Given the description of an element on the screen output the (x, y) to click on. 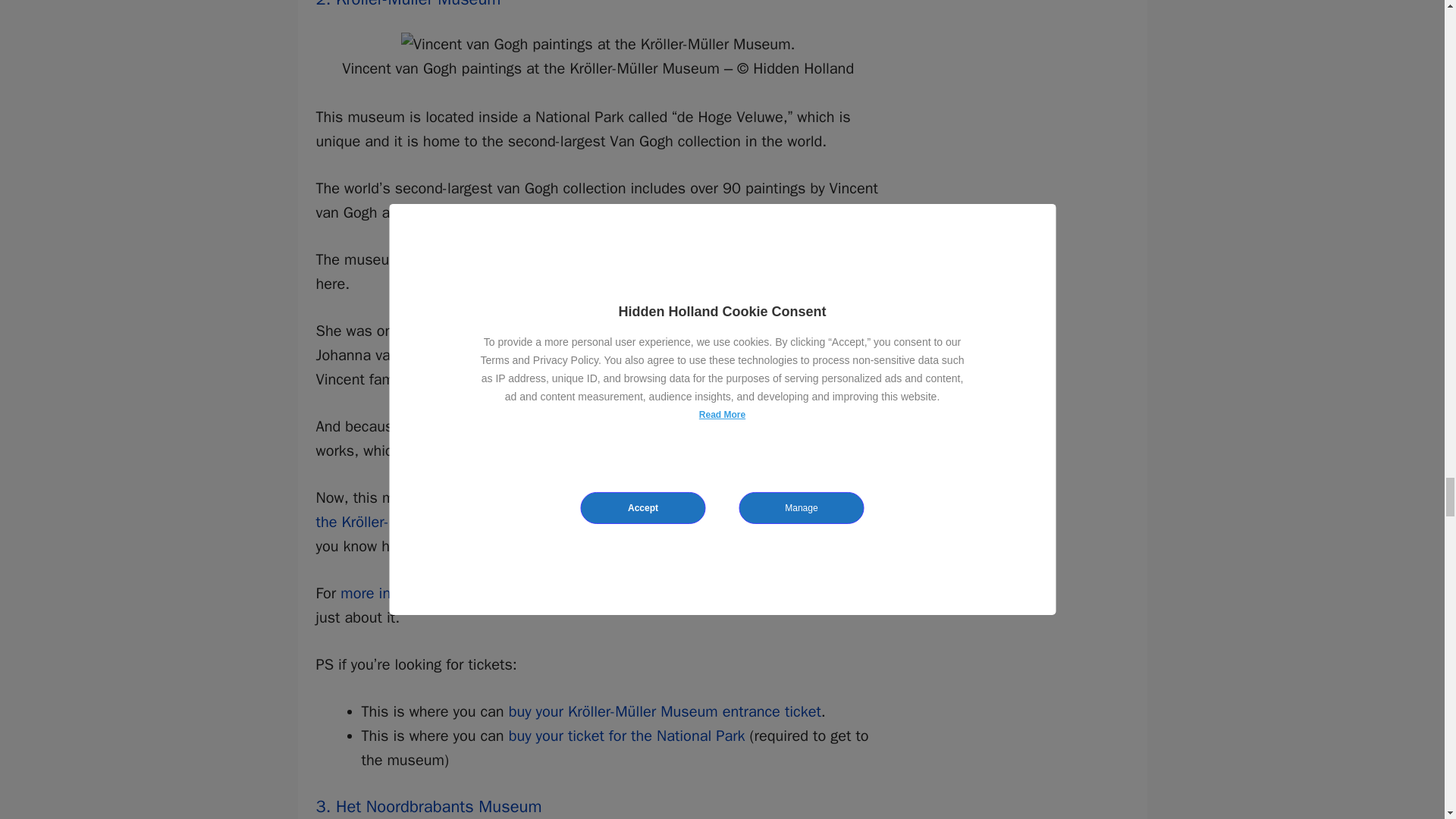
van-gogh-kroller-muller-museum (597, 44)
